Given the description of an element on the screen output the (x, y) to click on. 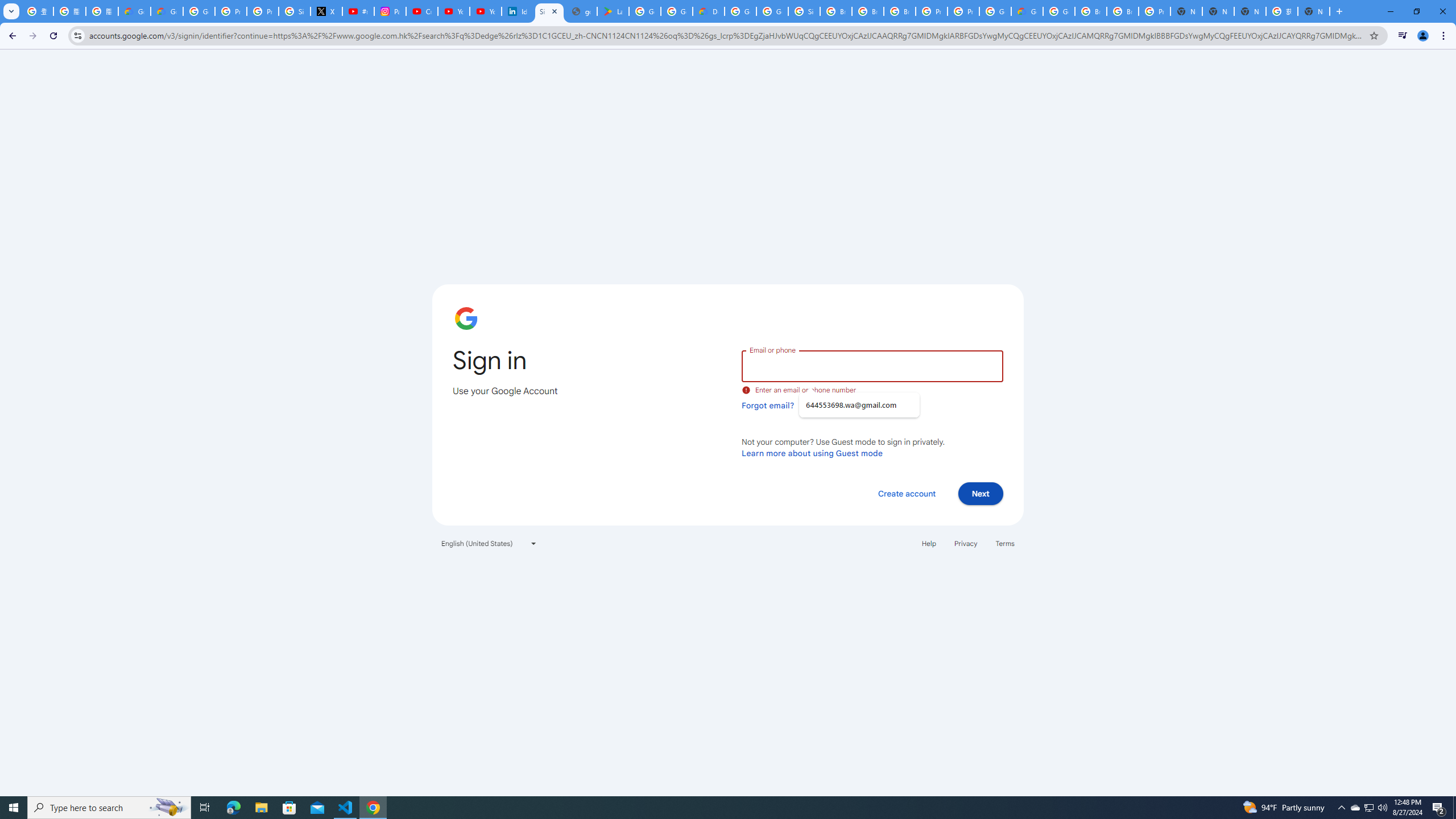
Next (980, 493)
Browse Chrome as a guest - Computer - Google Chrome Help (868, 11)
Sign in - Google Accounts (549, 11)
English (United States) (489, 542)
644553698.wa@gmail.com (858, 404)
